Given the description of an element on the screen output the (x, y) to click on. 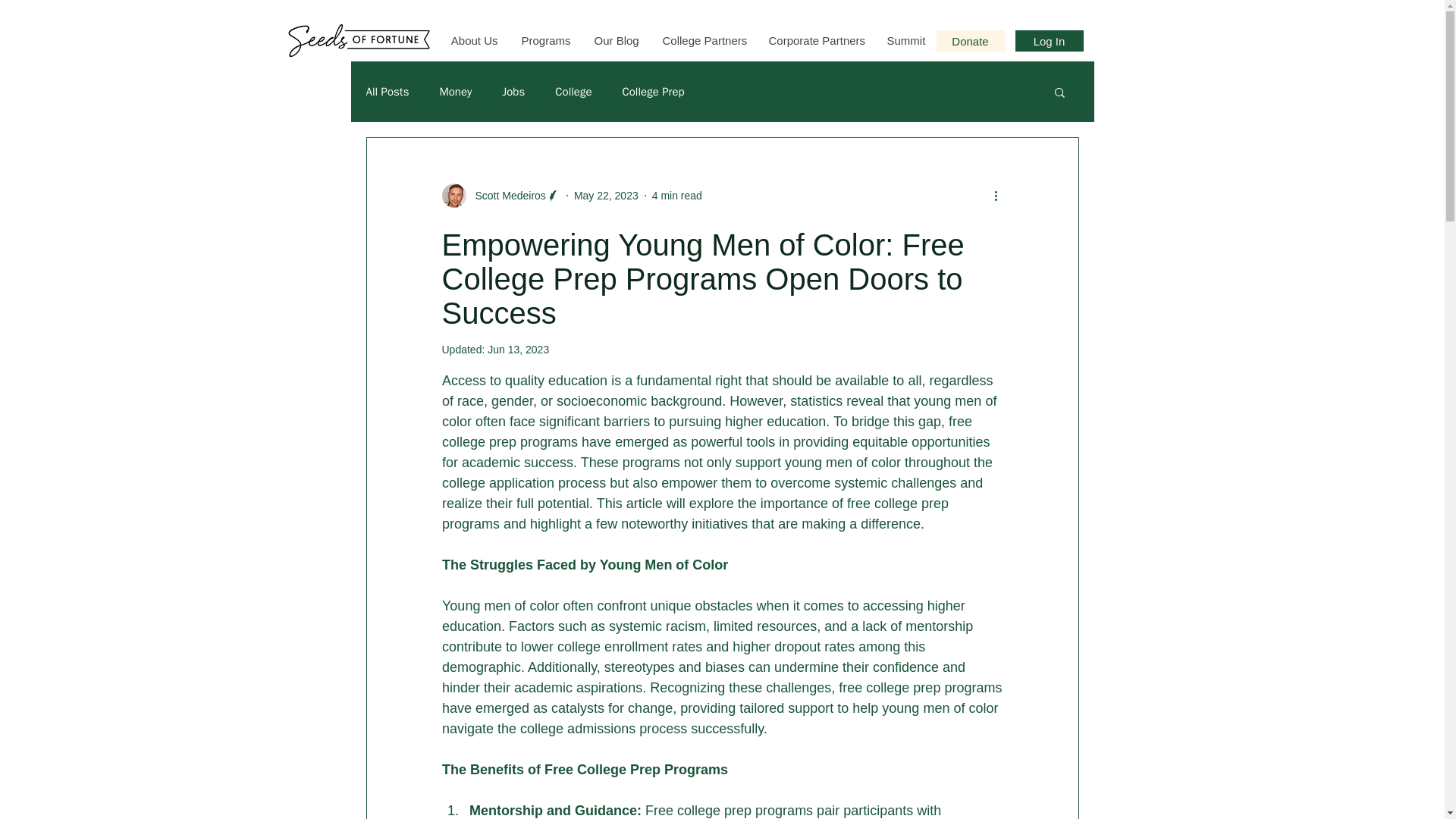
4 min read (676, 195)
College (572, 92)
Scott Medeiros (504, 195)
All Posts (387, 92)
Corporate Partners (816, 40)
Summit (905, 40)
College Prep (652, 92)
Scott Medeiros (500, 195)
Donate (970, 40)
Our Blog (616, 40)
